Given the description of an element on the screen output the (x, y) to click on. 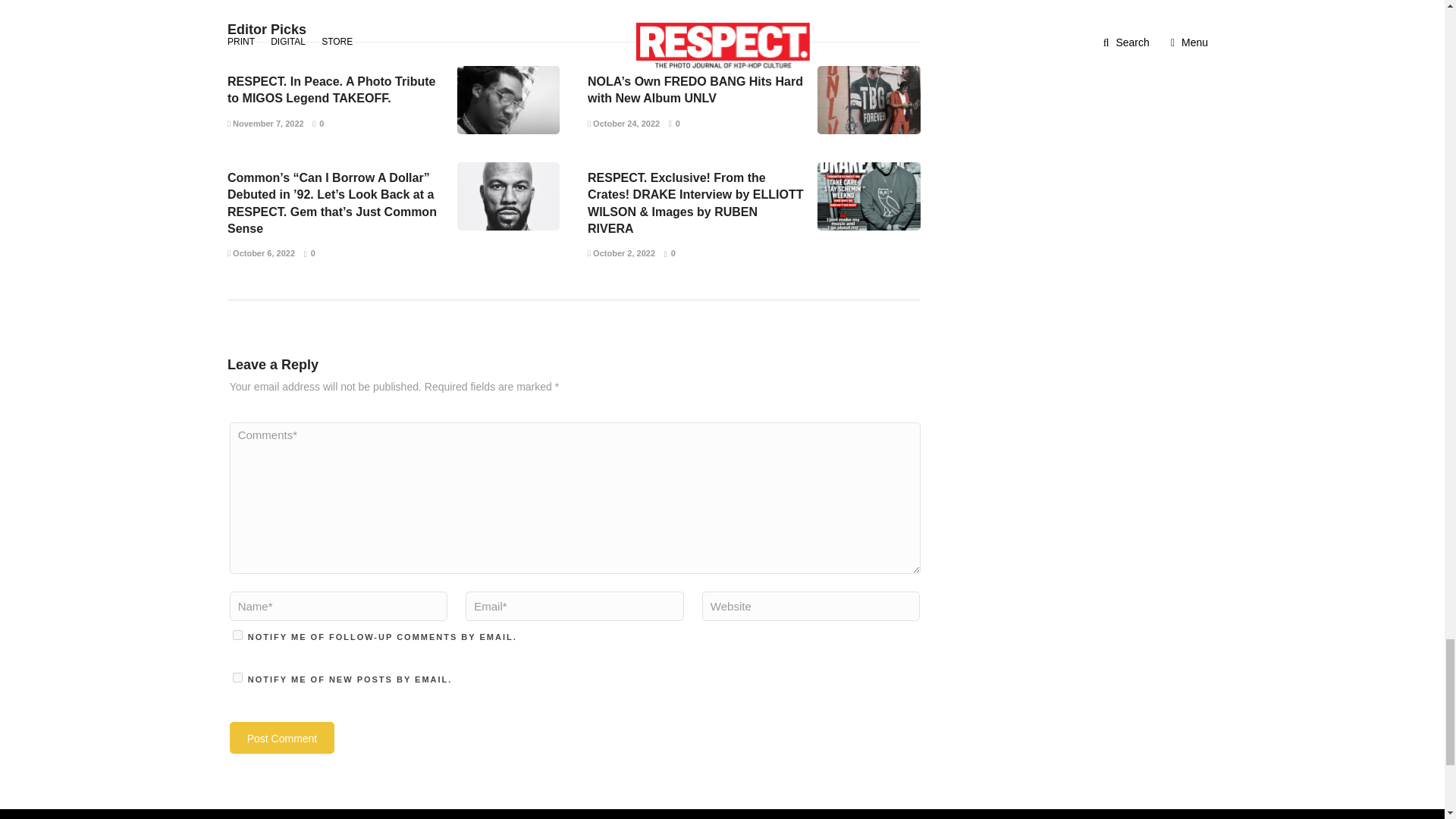
RESPECT. In Peace. A Photo Tribute to MIGOS Legend TAKEOFF. (331, 89)
subscribe (237, 634)
subscribe (237, 677)
Post Comment (282, 737)
